Given the description of an element on the screen output the (x, y) to click on. 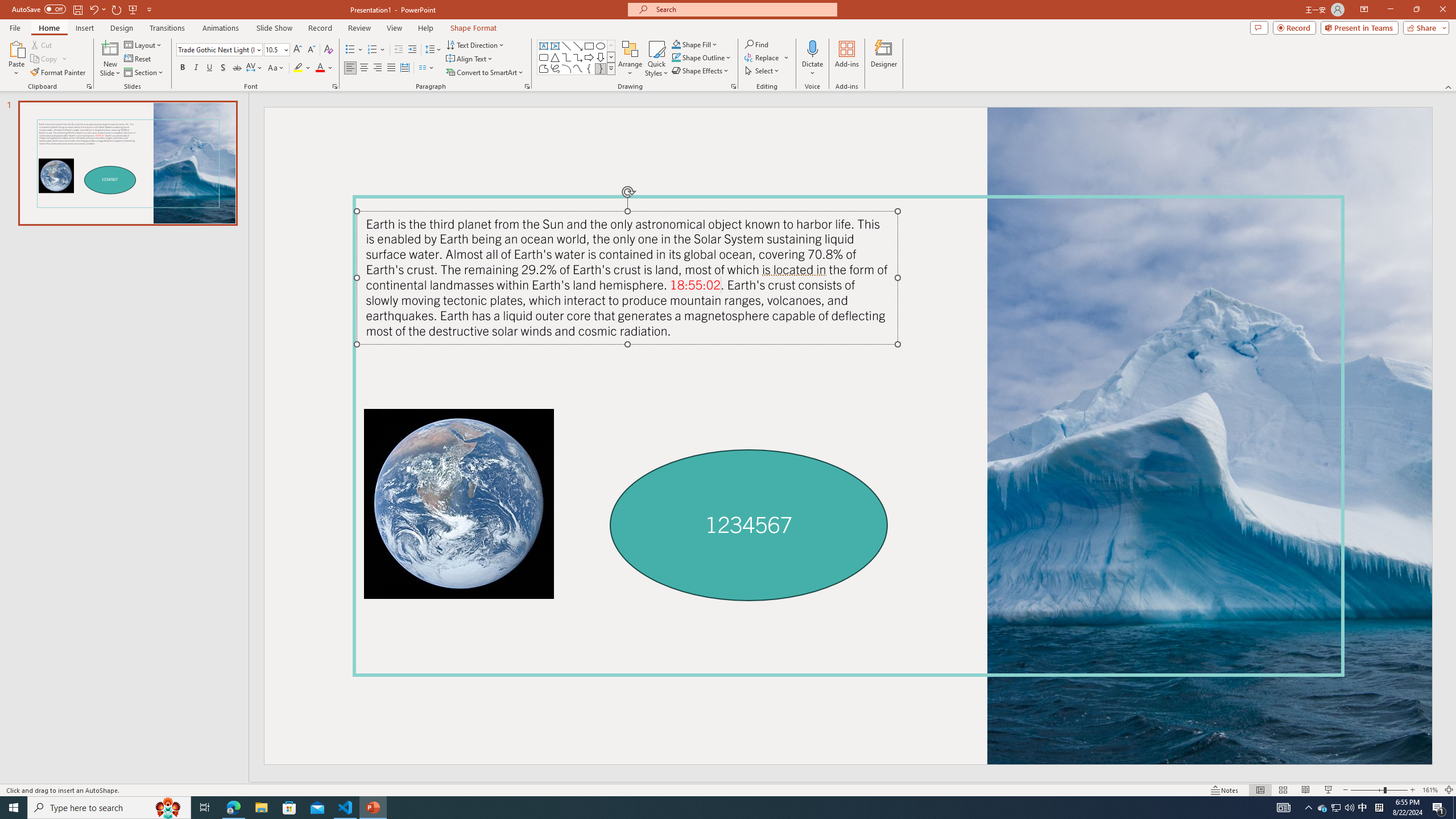
Shape Fill Aqua, Accent 2 (675, 44)
